Given the description of an element on the screen output the (x, y) to click on. 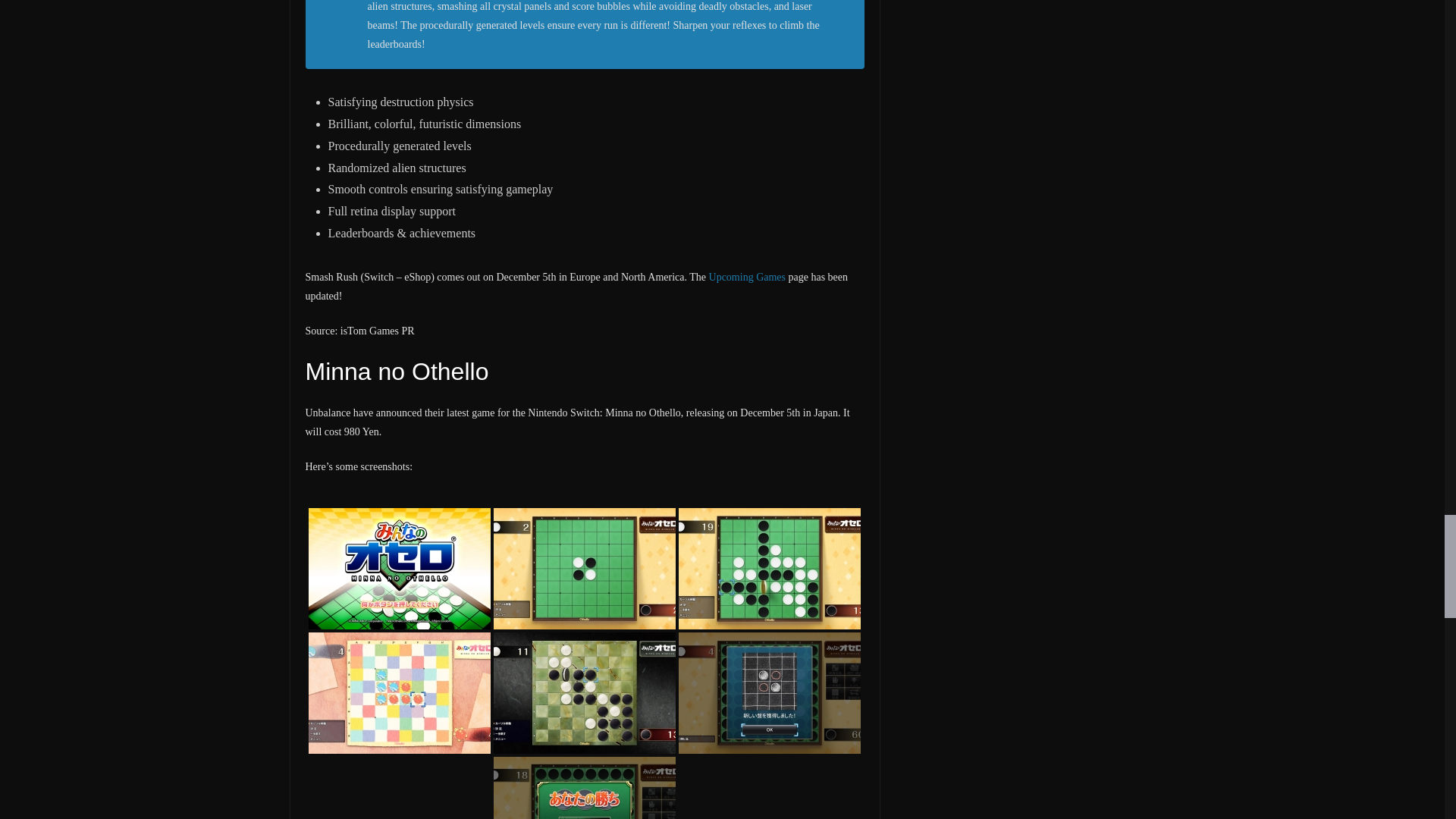
2 (584, 568)
1 (399, 568)
